Given the description of an element on the screen output the (x, y) to click on. 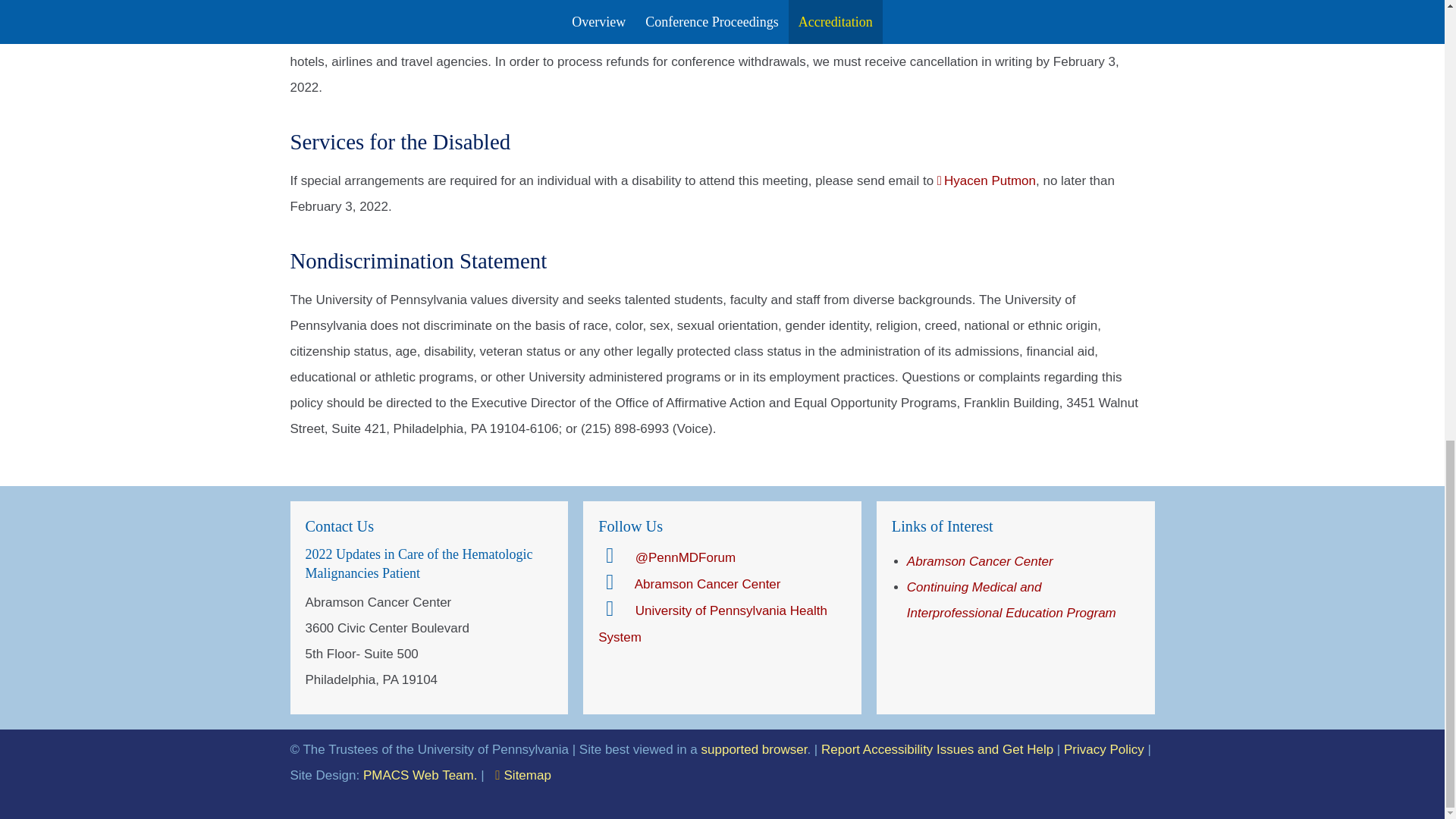
Abramson Cancer Center (689, 585)
supported browser (754, 749)
PMACS Web Team. (419, 775)
Continuing Medical and Interprofessional Education Program (1011, 599)
Hyacen Putmon (986, 180)
Report Accessibility Issues and Get Help (936, 749)
Abramson Cancer Center (979, 561)
Sitemap (523, 775)
Privacy Policy (1104, 749)
University of Pennsylvania Health System (712, 624)
